Given the description of an element on the screen output the (x, y) to click on. 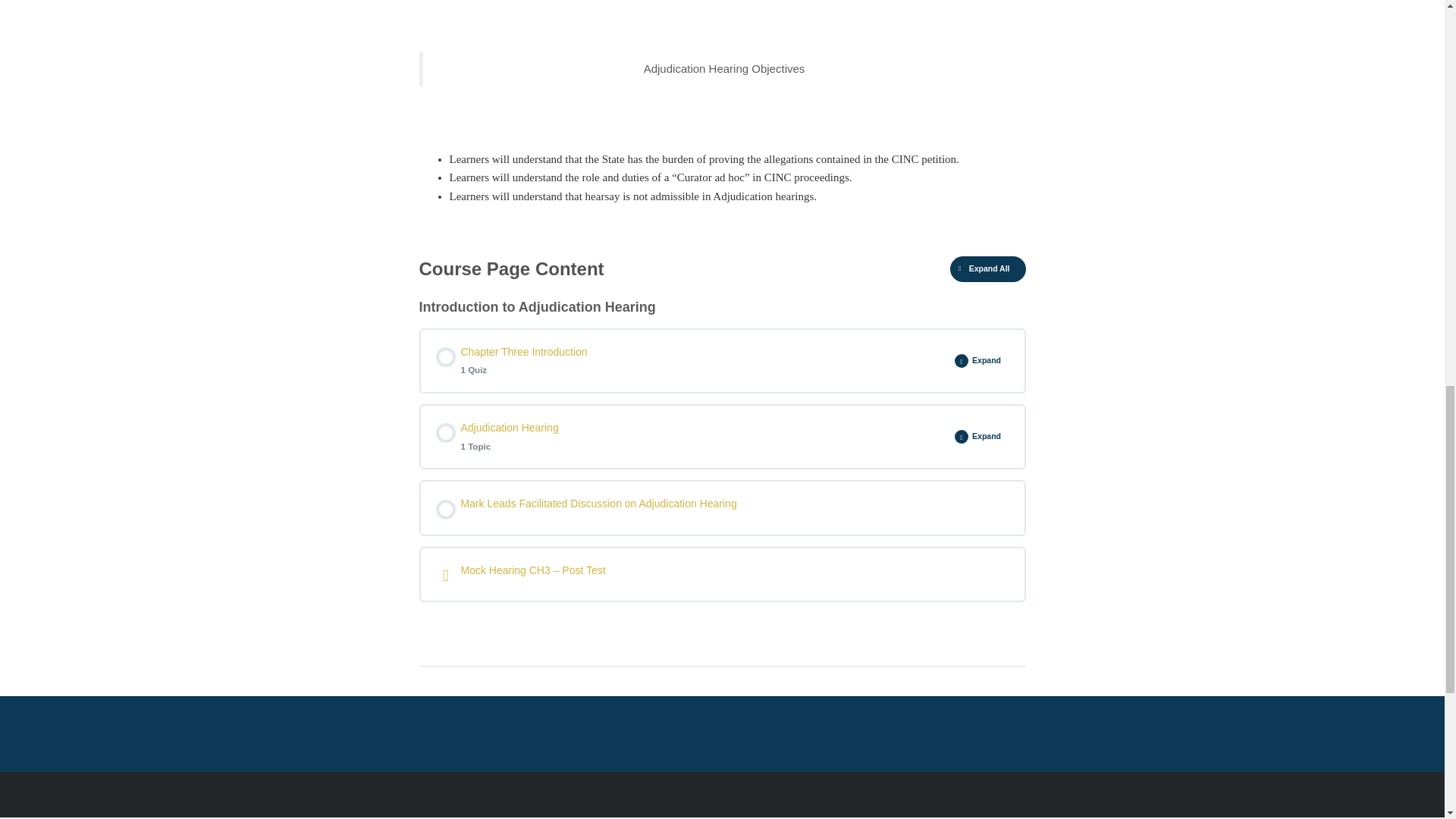
Mark Leads Facilitated Discussion on Adjudication Hearing (722, 507)
